Given the description of an element on the screen output the (x, y) to click on. 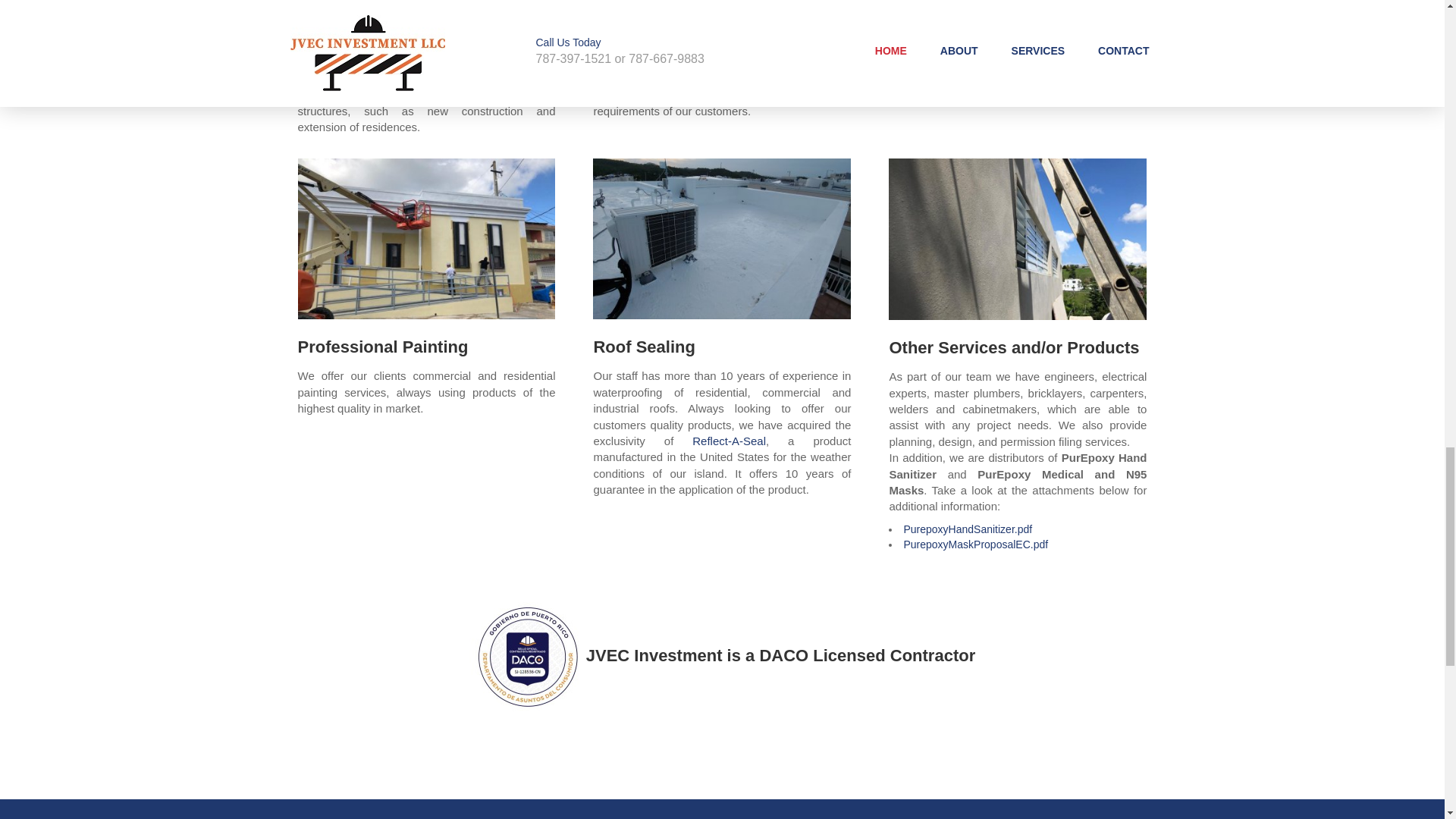
PurepoxyMaskProposalEC.pdf (975, 544)
PurEpoxy (617, 78)
PurepoxyHandSanitizer.pdf (967, 529)
Reflect-A-Seal (729, 440)
